Given the description of an element on the screen output the (x, y) to click on. 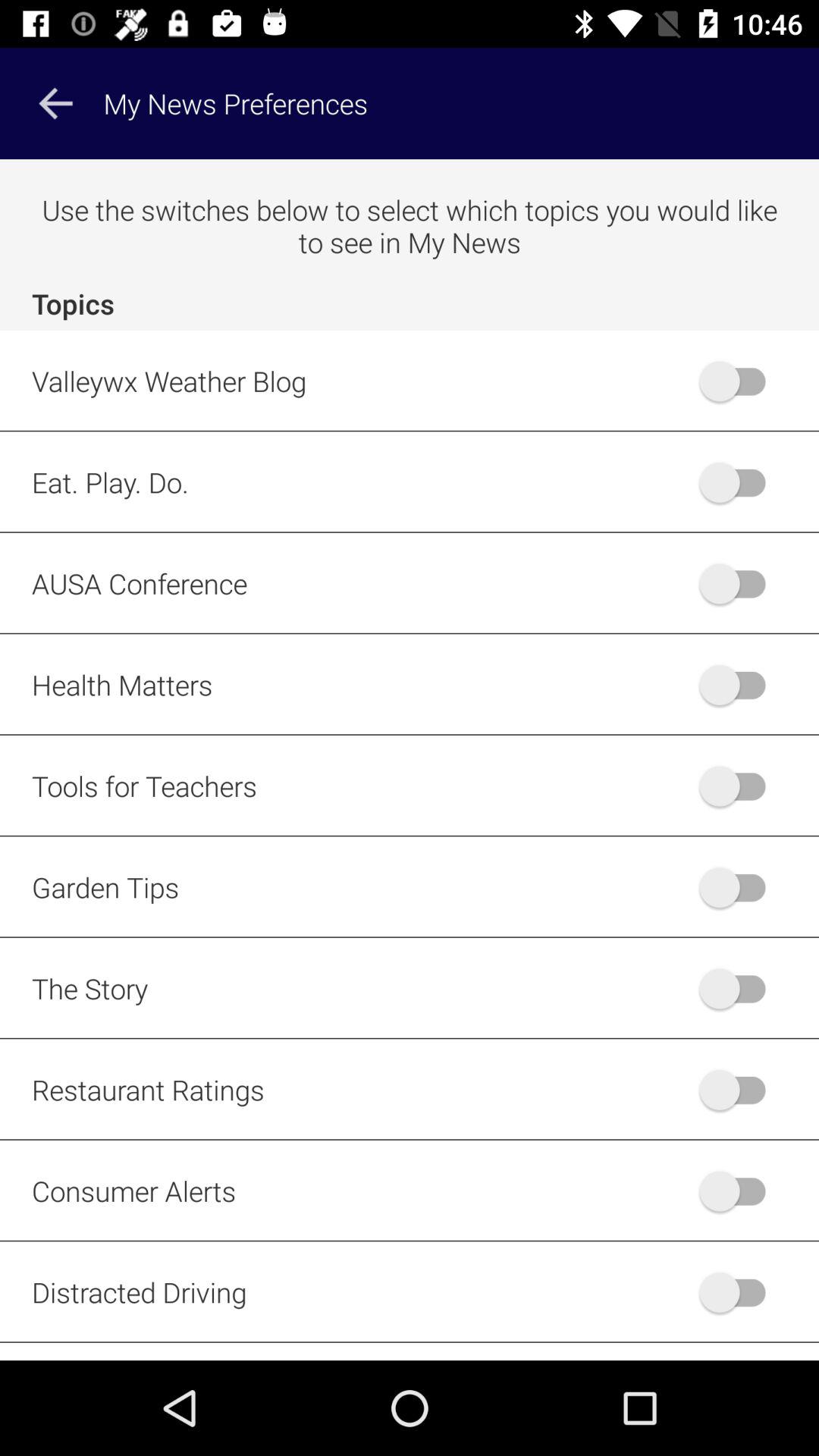
choose the app next to my news preferences icon (55, 103)
